Given the description of an element on the screen output the (x, y) to click on. 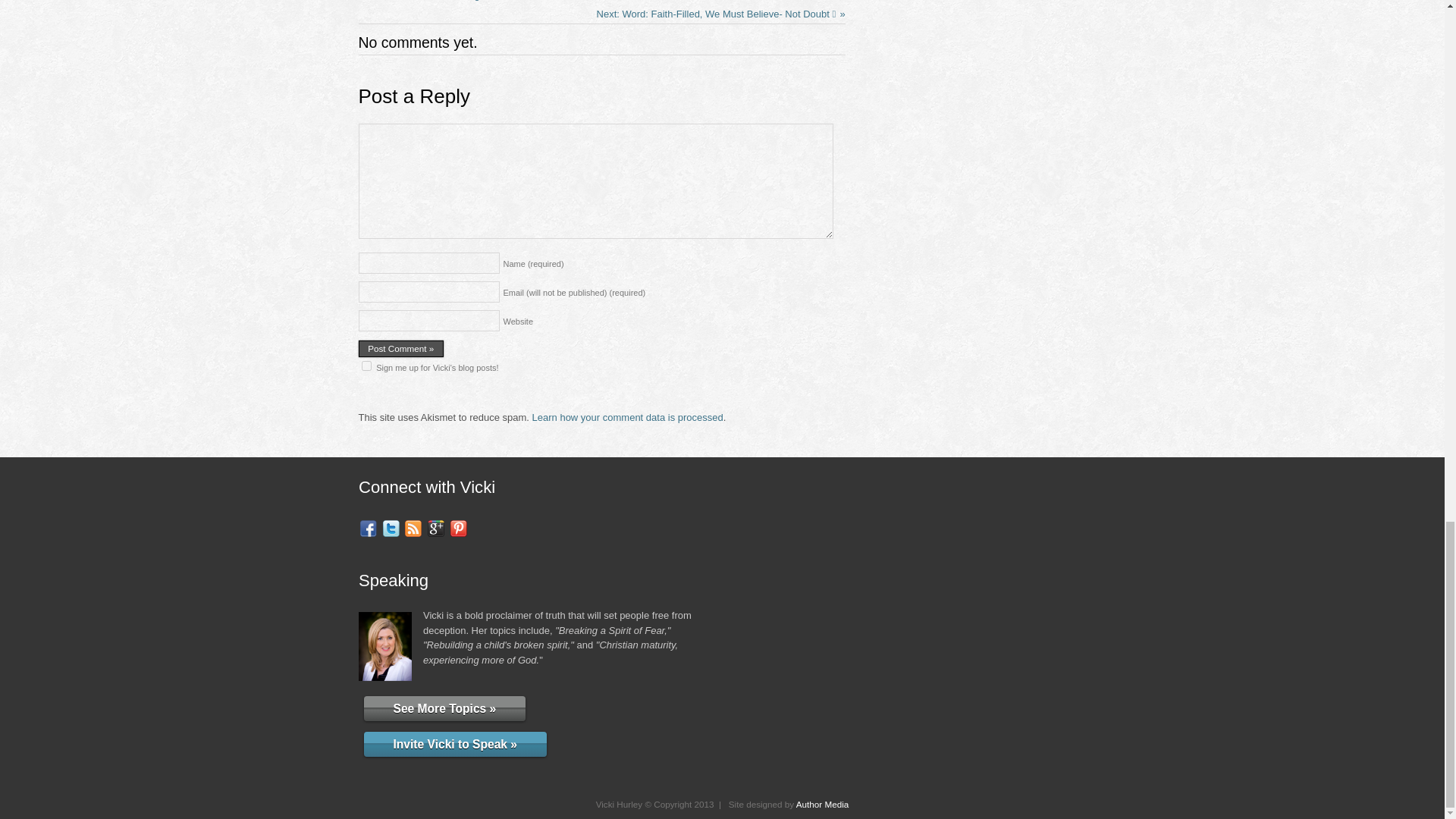
Word: Faith-Filled, We Must Believe- Not Doubt (720, 13)
Learn how your comment data is processed (627, 417)
1 (366, 366)
